Given the description of an element on the screen output the (x, y) to click on. 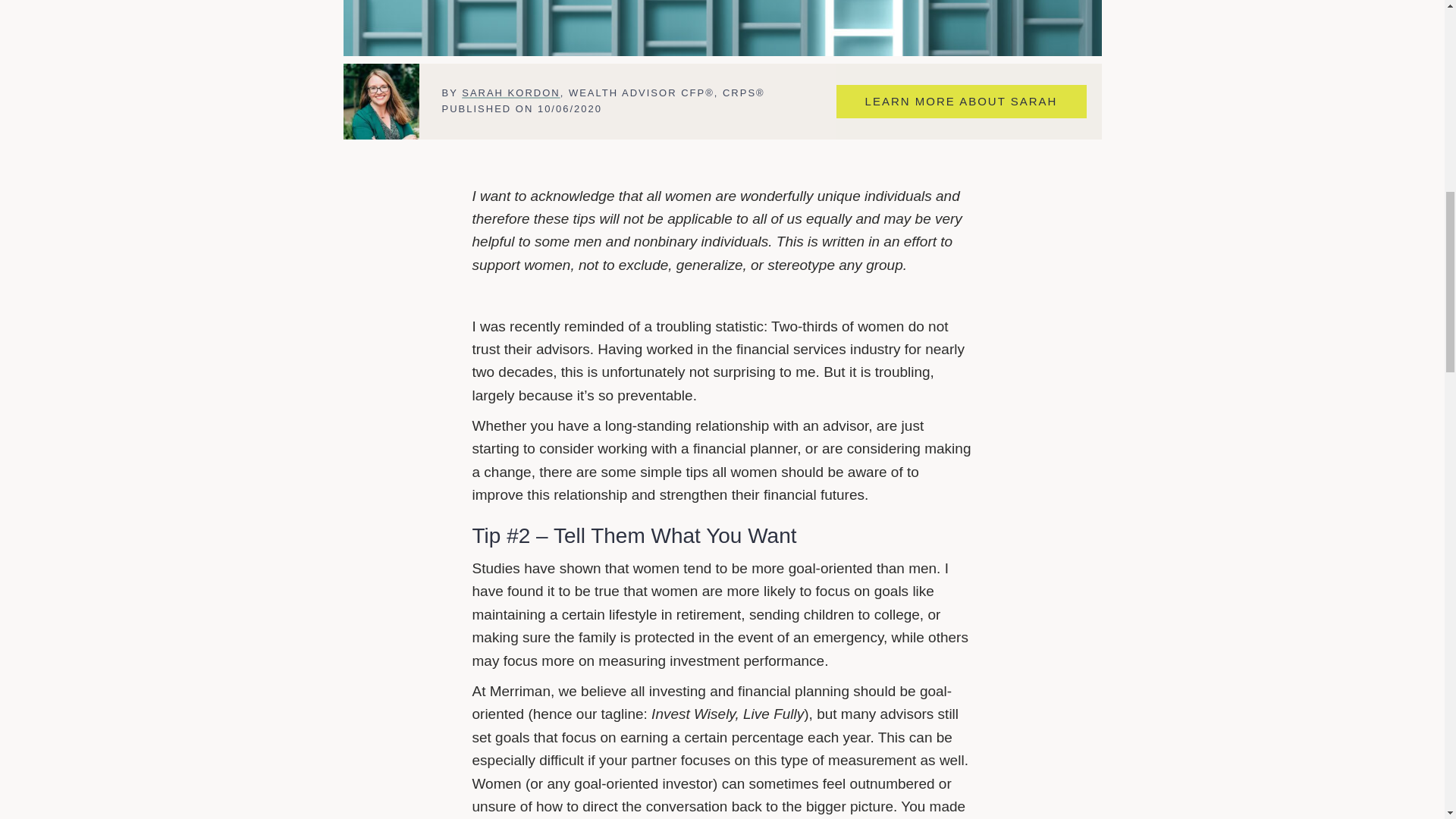
Sarah Kordon (380, 101)
Ladder-and-Bullseye (721, 28)
